Given the description of an element on the screen output the (x, y) to click on. 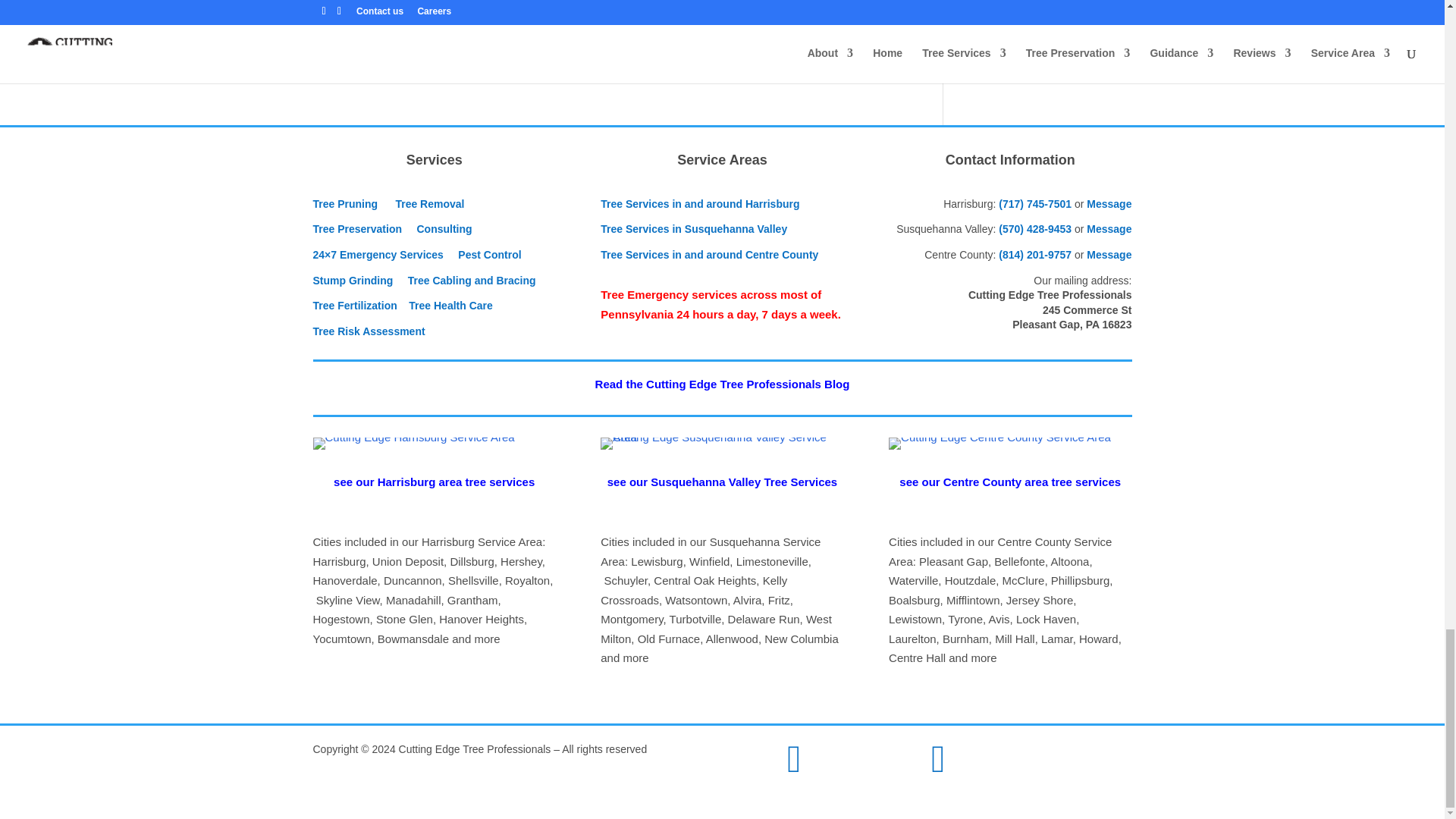
image (937, 767)
Cutting Edge Susquehanna Valley Service Area (721, 443)
Cutting Edge Harrisburg Service Area (413, 443)
Cutting Edge Centre County Service Area (999, 443)
image (793, 767)
